Given the description of an element on the screen output the (x, y) to click on. 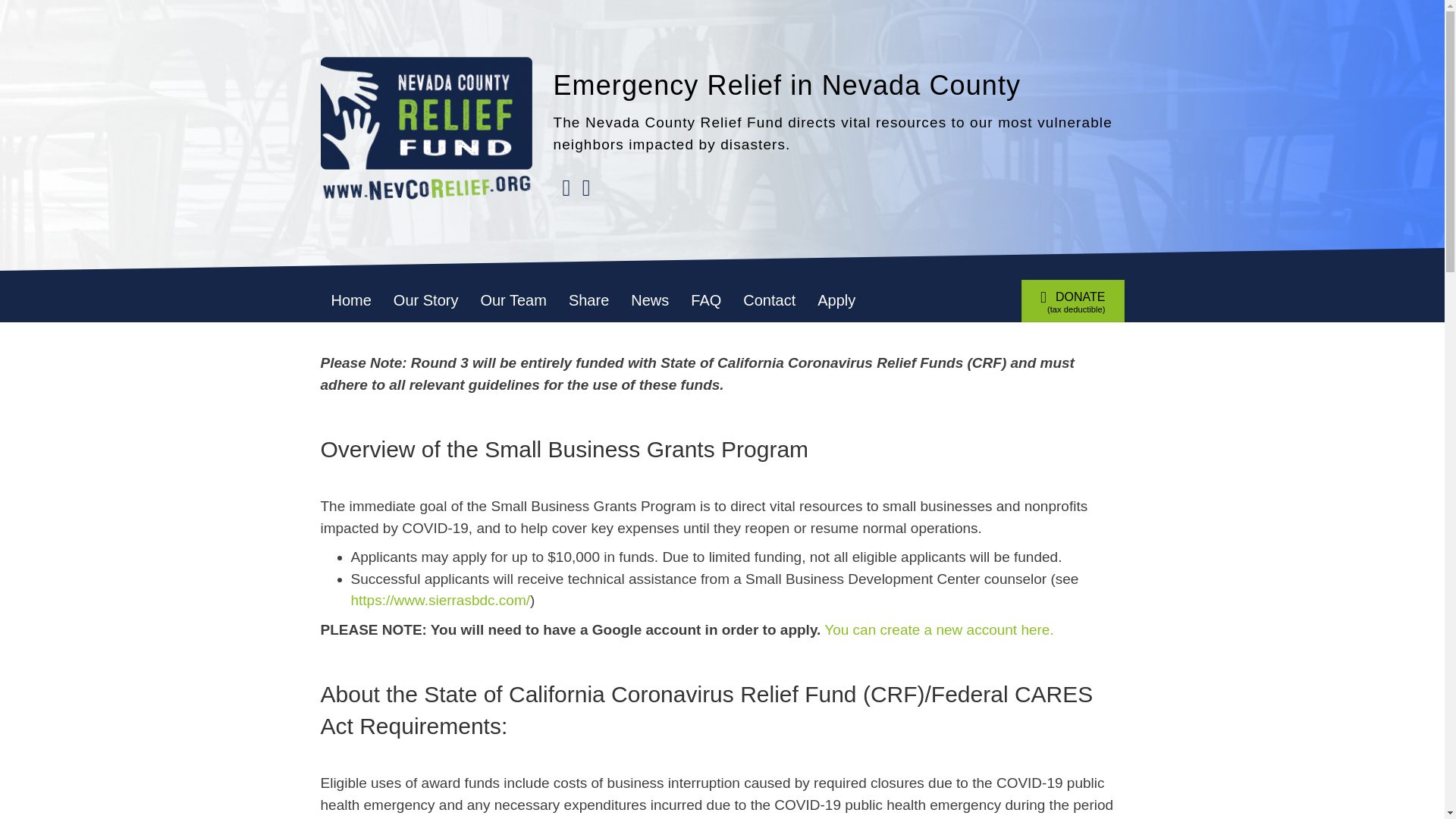
Apply (836, 300)
Our Story (425, 300)
Contact (769, 300)
FAQ (705, 300)
News (649, 300)
Home (350, 300)
Share (588, 300)
Our Team (512, 300)
You can create a new account here. (938, 629)
